Given the description of an element on the screen output the (x, y) to click on. 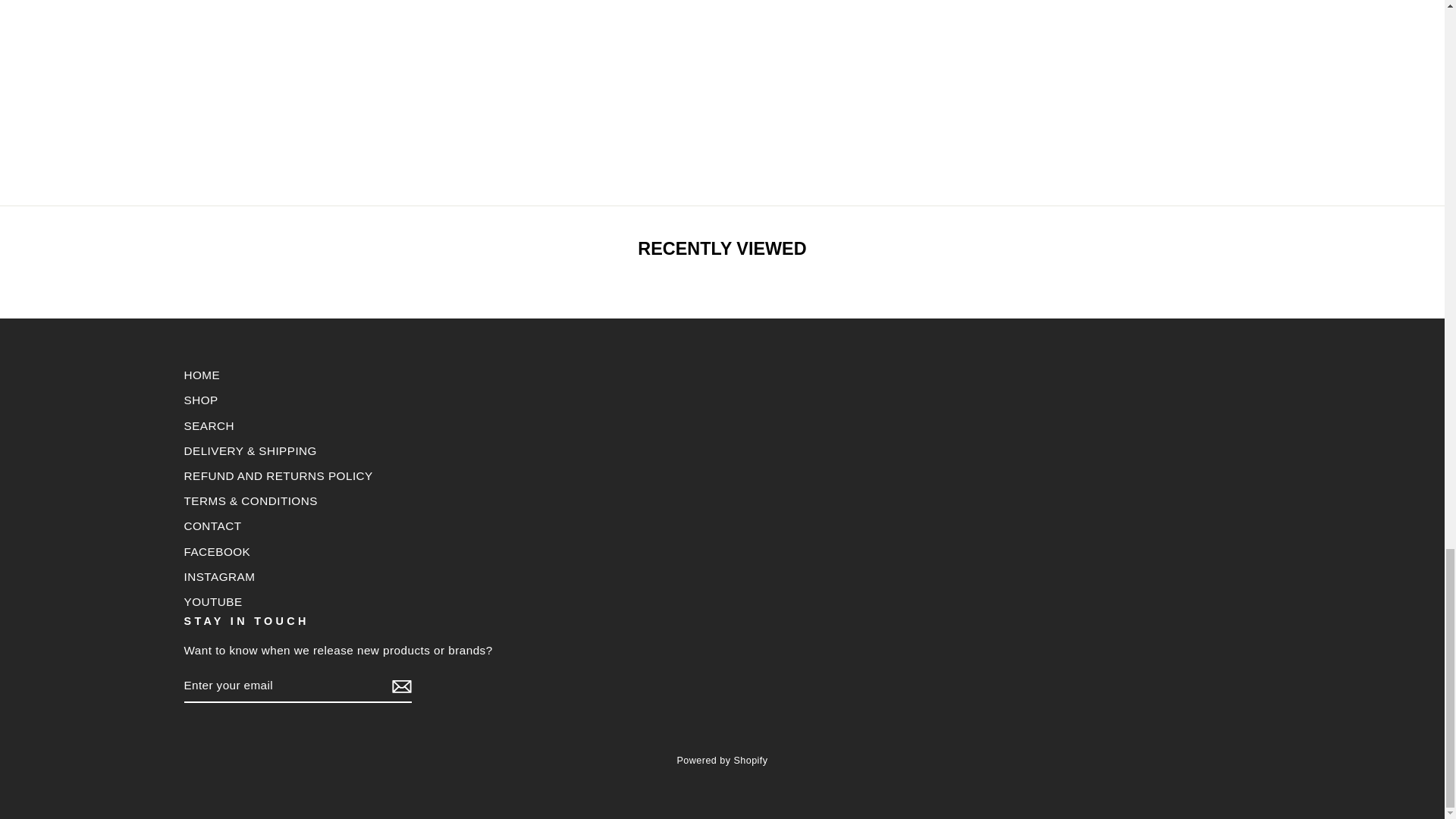
HOME (201, 374)
SEARCH (207, 425)
REFUND AND RETURNS POLICY (277, 475)
SHOP (199, 400)
icon-email (400, 686)
